Given the description of an element on the screen output the (x, y) to click on. 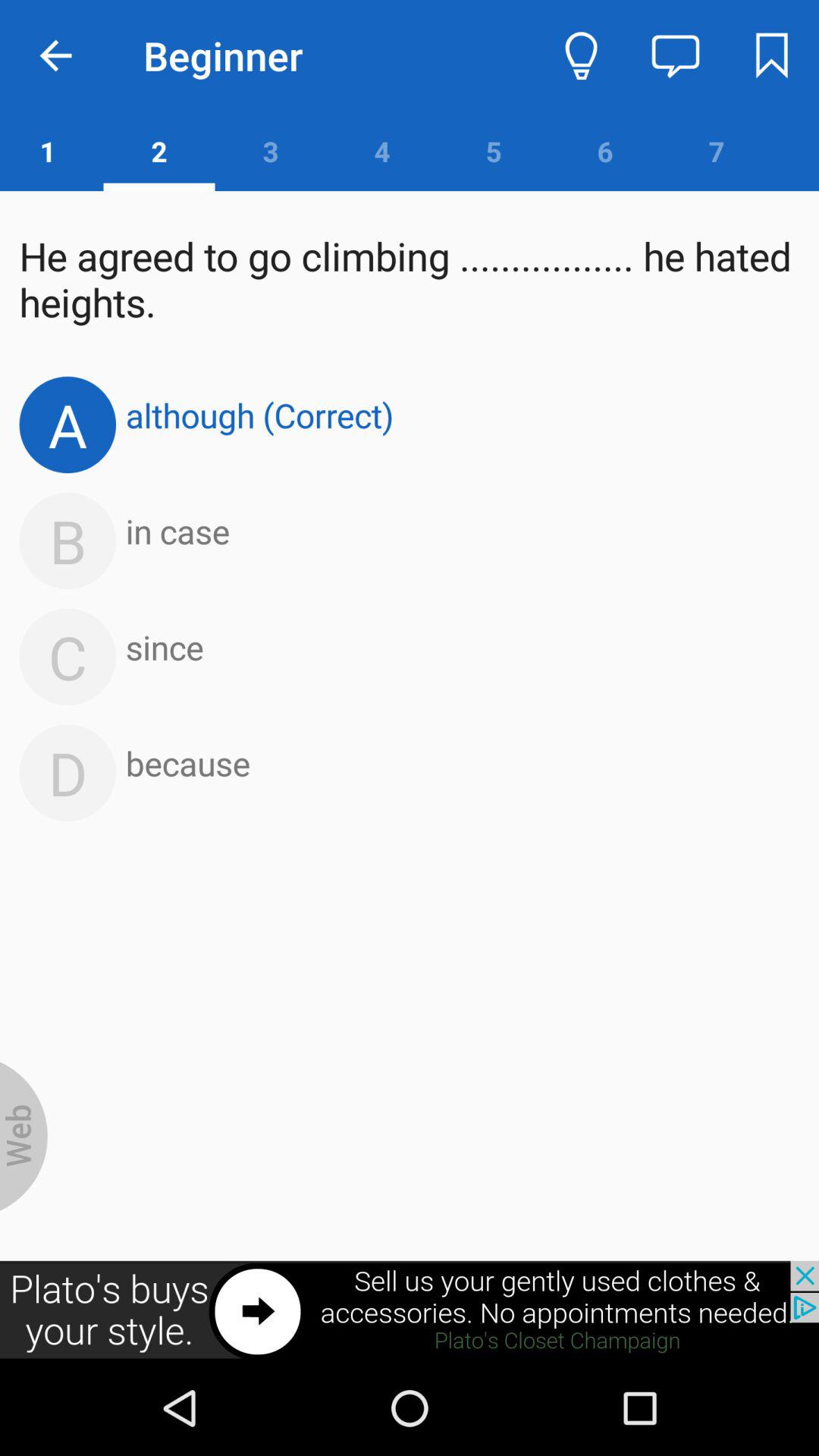
open advertisement (409, 1310)
